Given the description of an element on the screen output the (x, y) to click on. 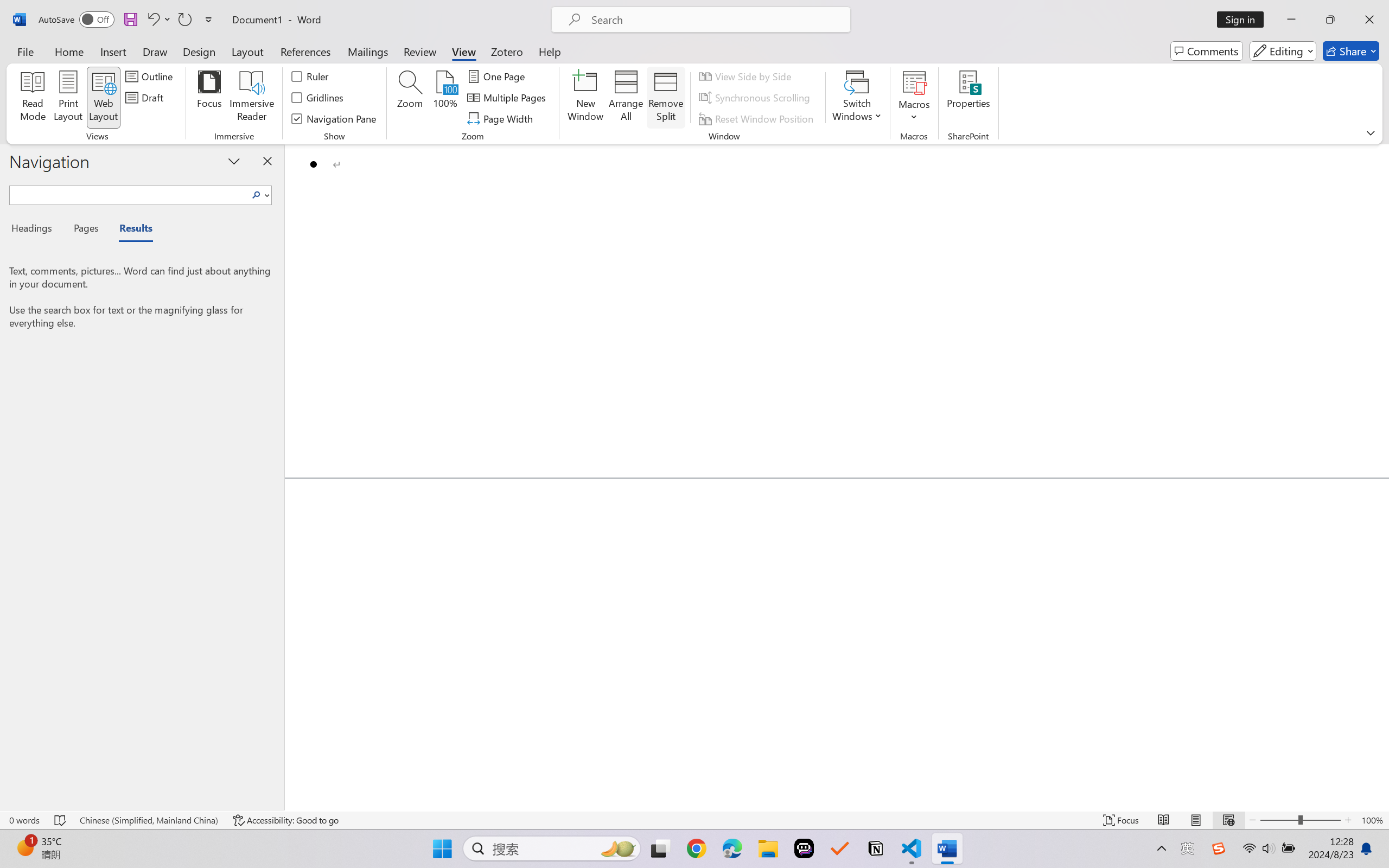
Results (130, 229)
Arrange All (625, 97)
Undo Bullet Default (152, 19)
Headings (35, 229)
